Given the description of an element on the screen output the (x, y) to click on. 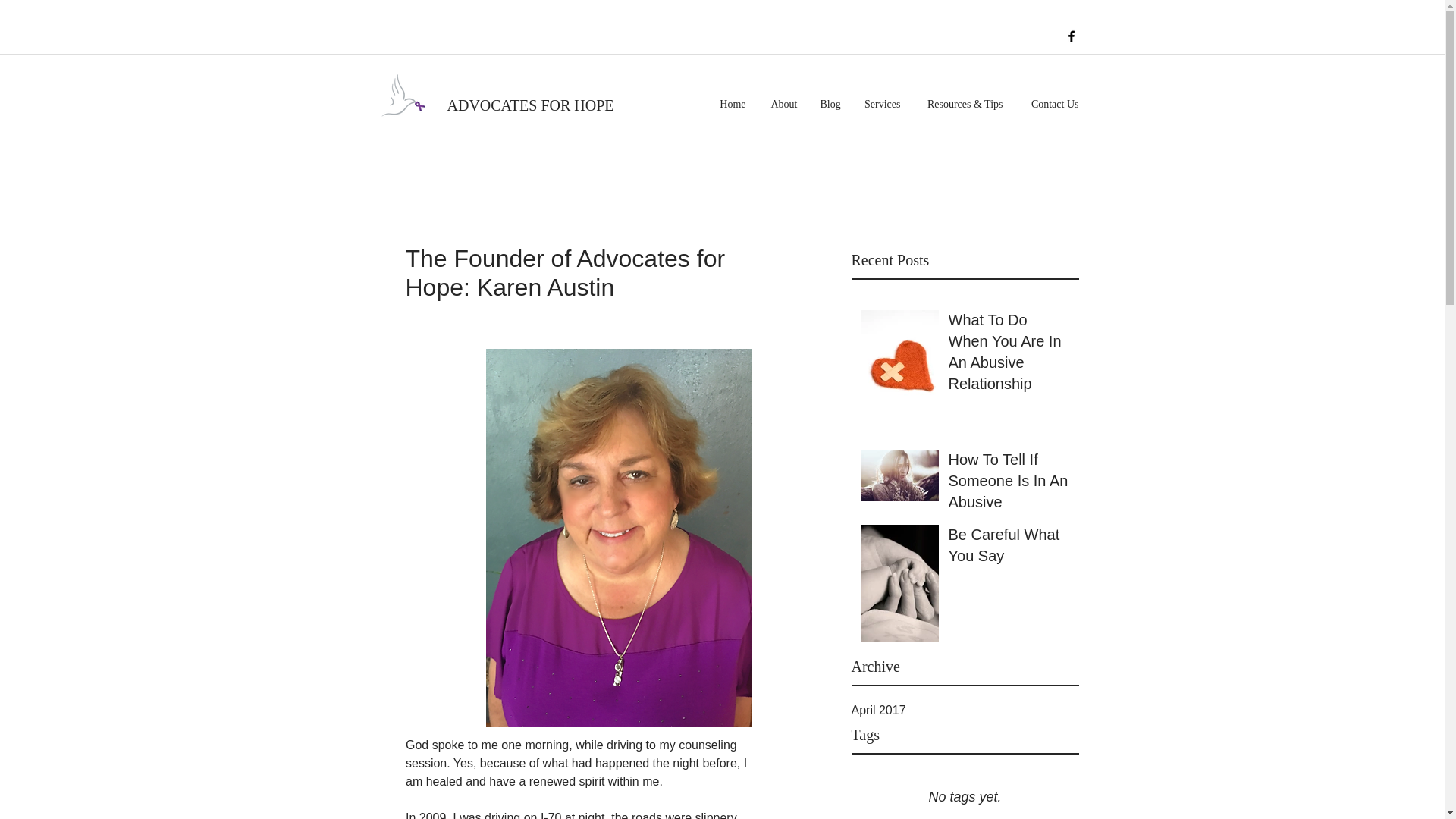
Be Careful What You Say (1007, 548)
Blog (829, 104)
Untitled (399, 94)
Services (881, 104)
Contact Us (1052, 104)
Home (731, 104)
How To Tell If Someone Is In An Abusive Relationship (1007, 493)
What To Do When You Are In An Abusive Relationship (1007, 354)
April 2017 (964, 710)
